Given the description of an element on the screen output the (x, y) to click on. 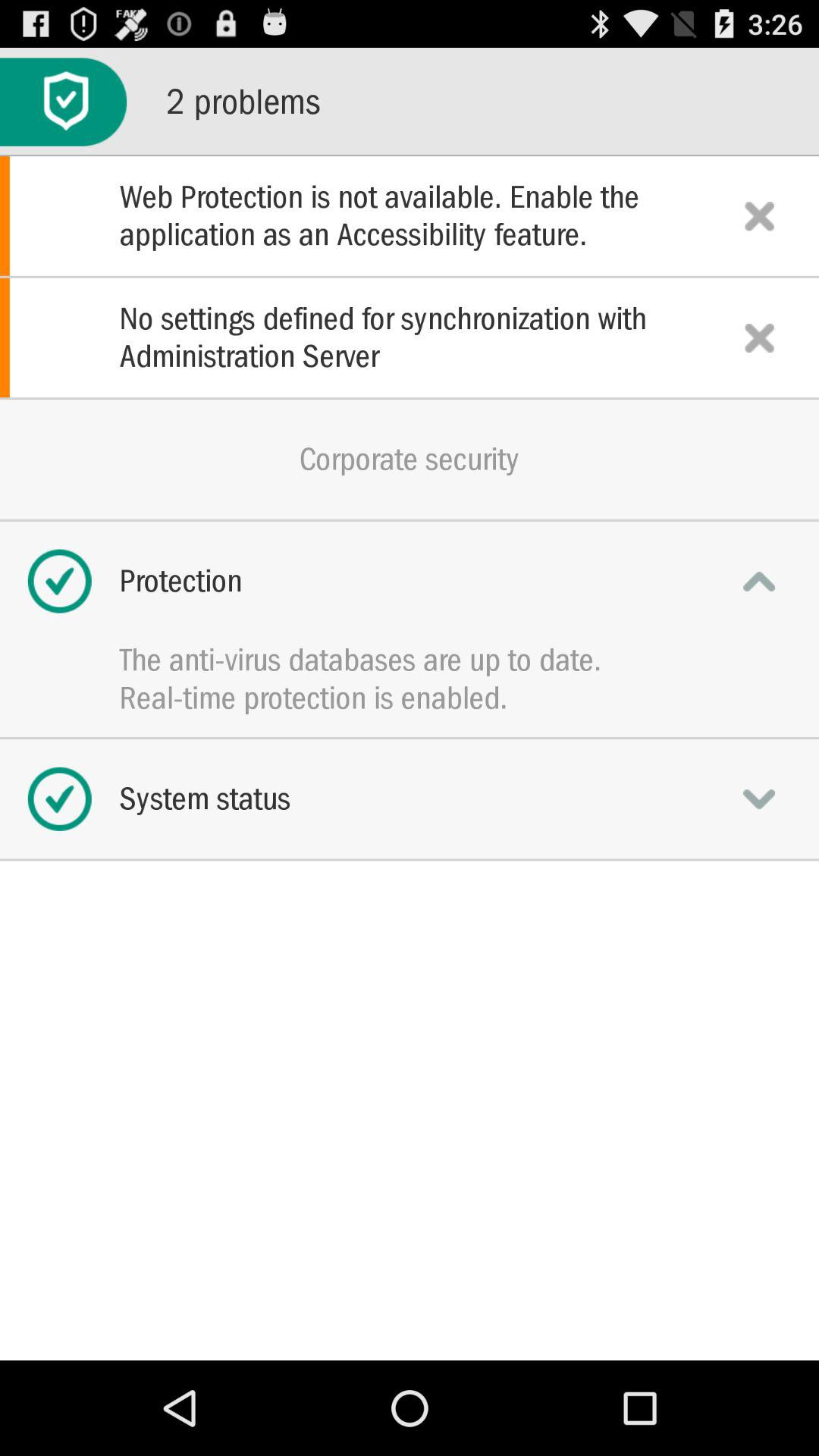
launch the no settings defined app (409, 337)
